Given the description of an element on the screen output the (x, y) to click on. 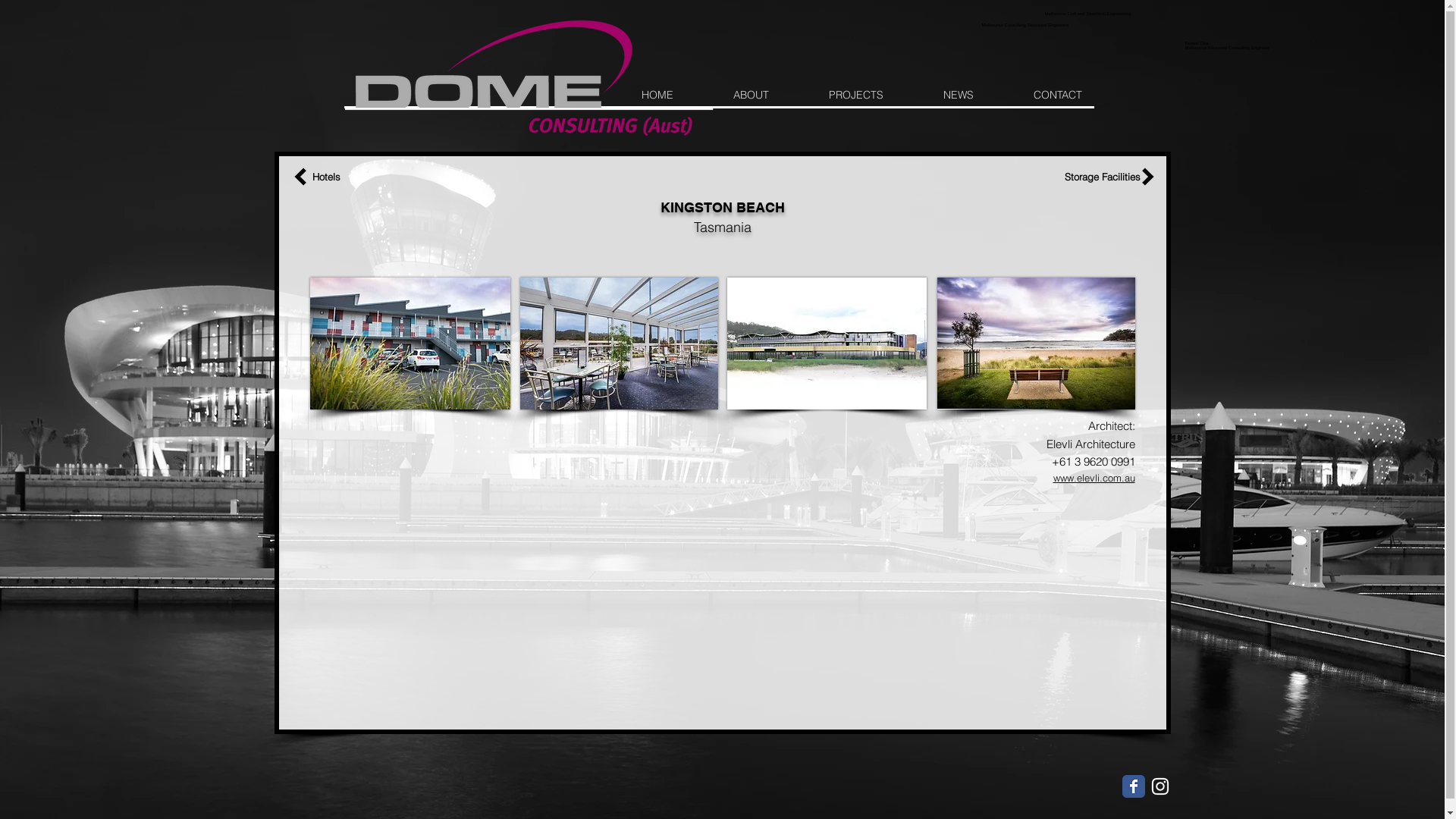
NEWS Element type: text (958, 95)
www.elevli.com.au Element type: text (1093, 477)
CONTACT Element type: text (1057, 95)
ABOUT Element type: text (751, 95)
PROJECTS Element type: text (856, 95)
Storage Facilities Element type: text (1102, 176)
Hotels Element type: text (326, 176)
HOME Element type: text (656, 95)
